Given the description of an element on the screen output the (x, y) to click on. 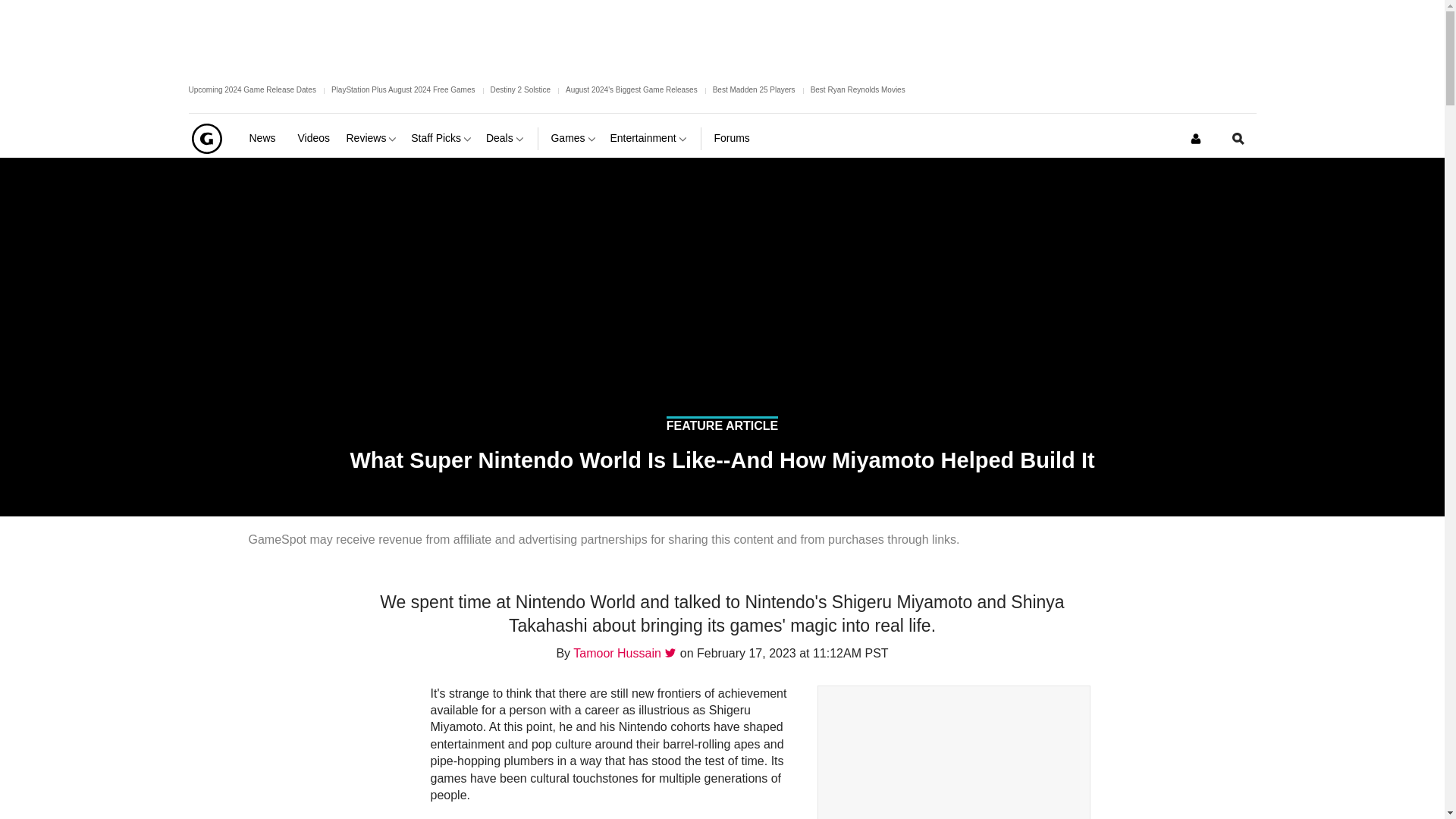
Best Madden 25 Players (753, 89)
Reviews (372, 138)
Staff Picks (442, 138)
Deals (505, 138)
Upcoming 2024 Game Release Dates (251, 89)
Games (573, 138)
PlayStation Plus August 2024 Free Games (403, 89)
Videos (315, 138)
News (266, 138)
